Given the description of an element on the screen output the (x, y) to click on. 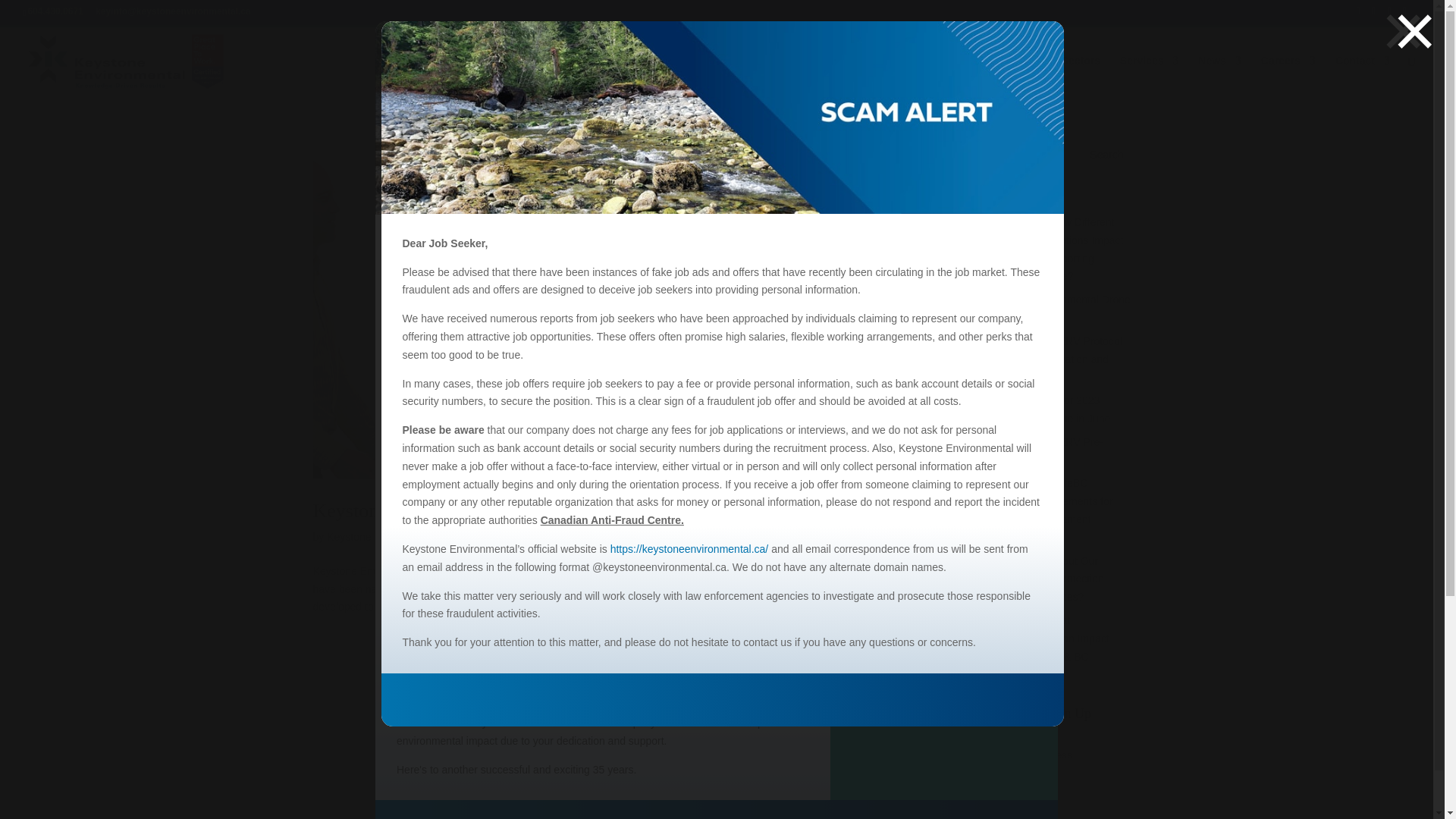
2023-scam-alert-banner (721, 117)
Search (1106, 154)
Services (1149, 74)
Posts by Keystone Environmental (384, 536)
2023-letter-from-president-banner (716, 117)
Sign up (1006, 783)
Who We Are (1002, 74)
Sectors (1080, 74)
Follow on X (1373, 14)
Home (929, 74)
